Given the description of an element on the screen output the (x, y) to click on. 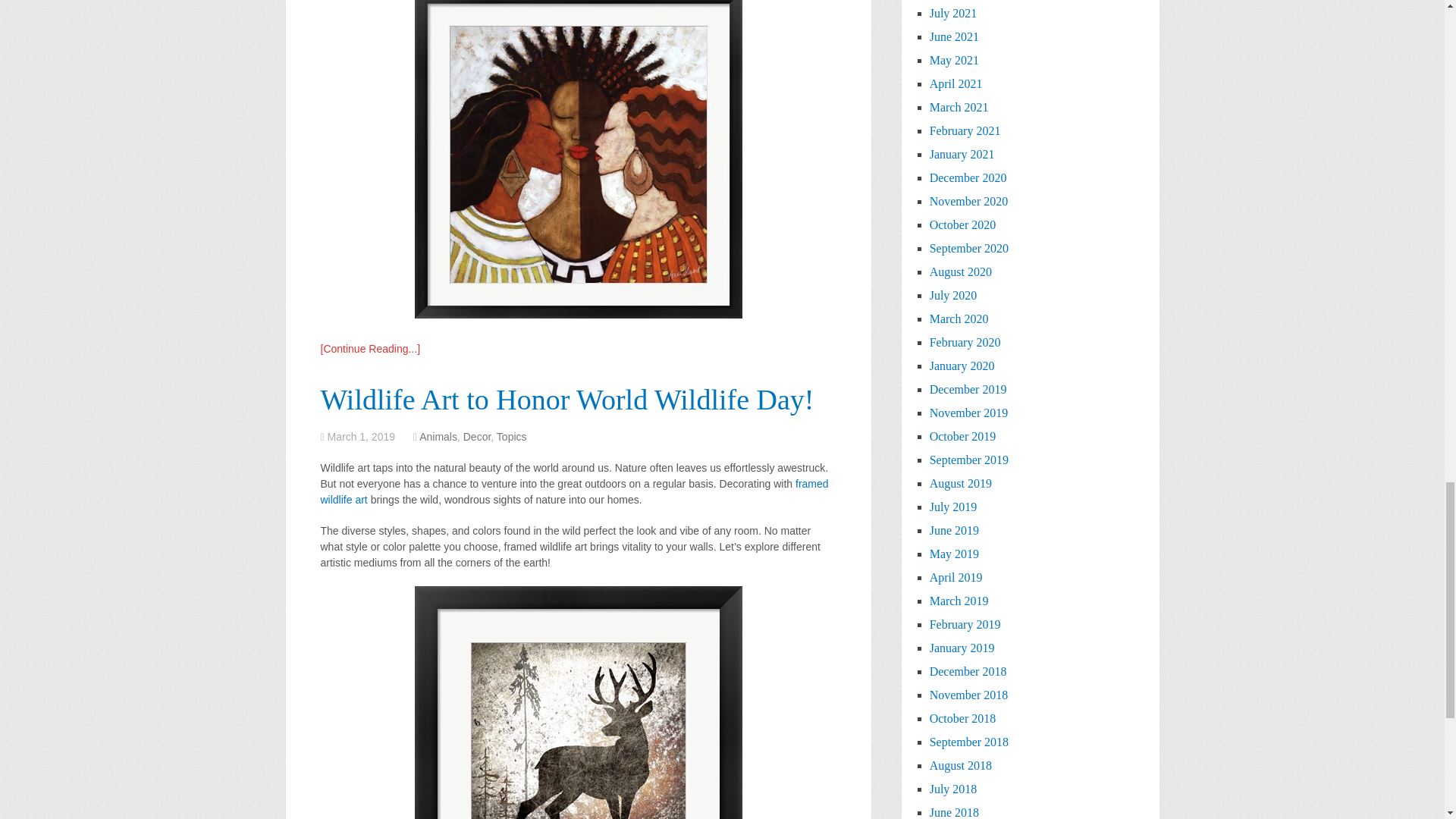
Topics (511, 436)
Wildlife Art to Honor World Wildlife Day! (566, 399)
Animals (438, 436)
View all posts in Topics (511, 436)
Wildlife Art to Honor World Wildlife Day! (566, 399)
Behind the Frame: Female Artists (370, 348)
framed wildlife art (574, 491)
Decor (477, 436)
View all posts in Decor (477, 436)
View all posts in Animals (438, 436)
